Given the description of an element on the screen output the (x, y) to click on. 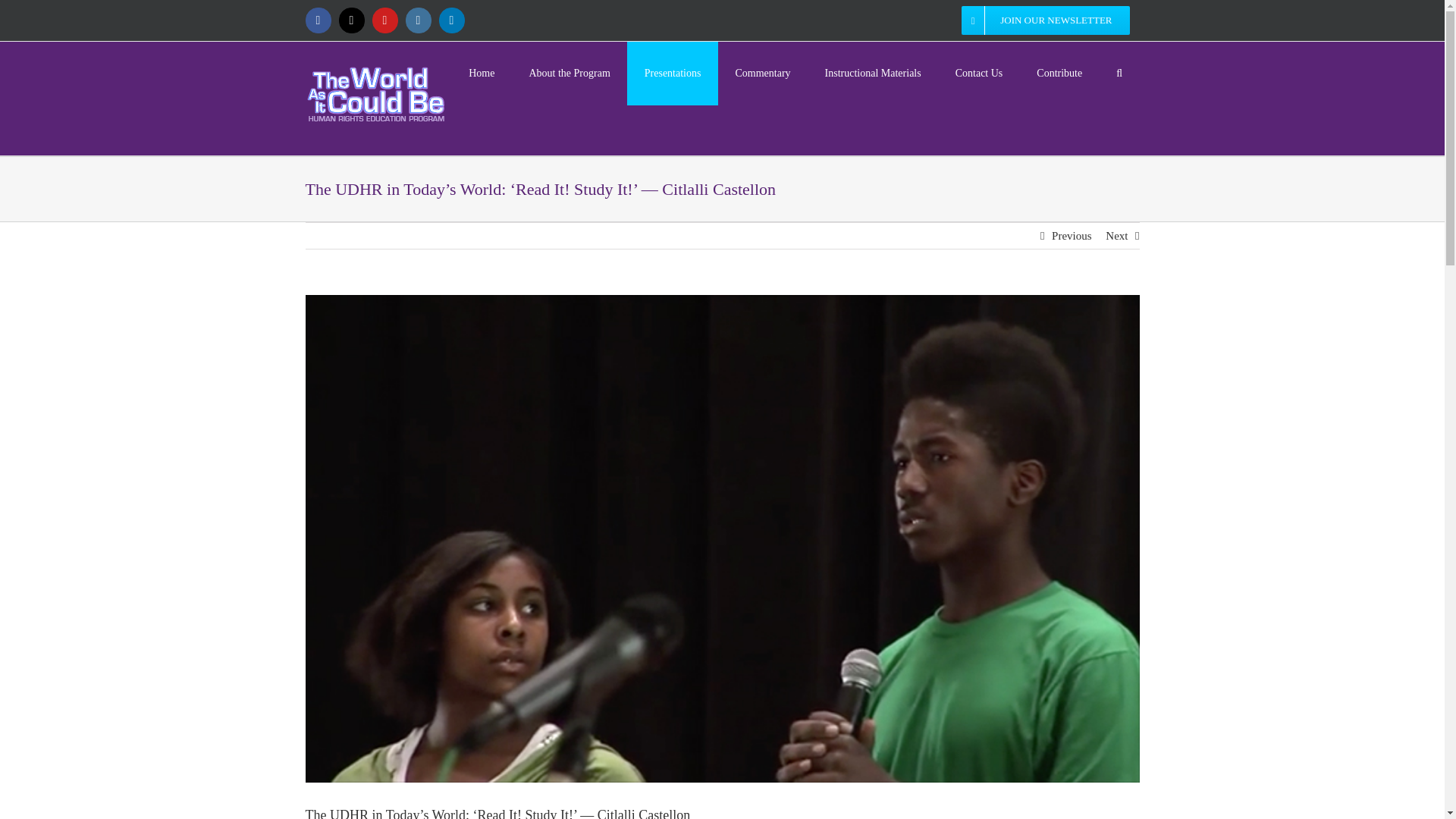
Instagram (417, 20)
JOIN OUR NEWSLETTER (1045, 20)
Facebook (317, 20)
Commentary (762, 73)
Previous (1071, 235)
X (350, 20)
Instagram (417, 20)
YouTube (384, 20)
Instructional Materials (872, 73)
YouTube (384, 20)
